Given the description of an element on the screen output the (x, y) to click on. 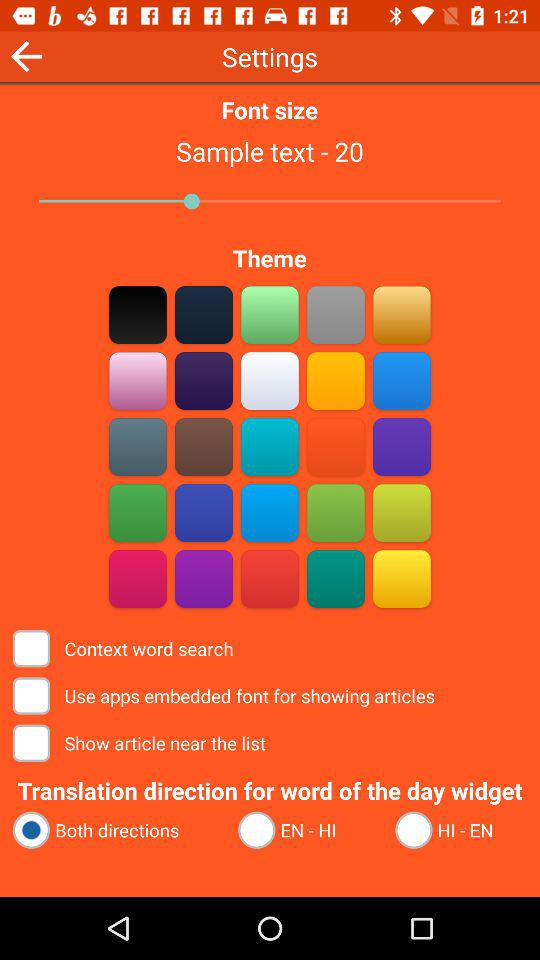
launch item next to font size item (26, 56)
